Given the description of an element on the screen output the (x, y) to click on. 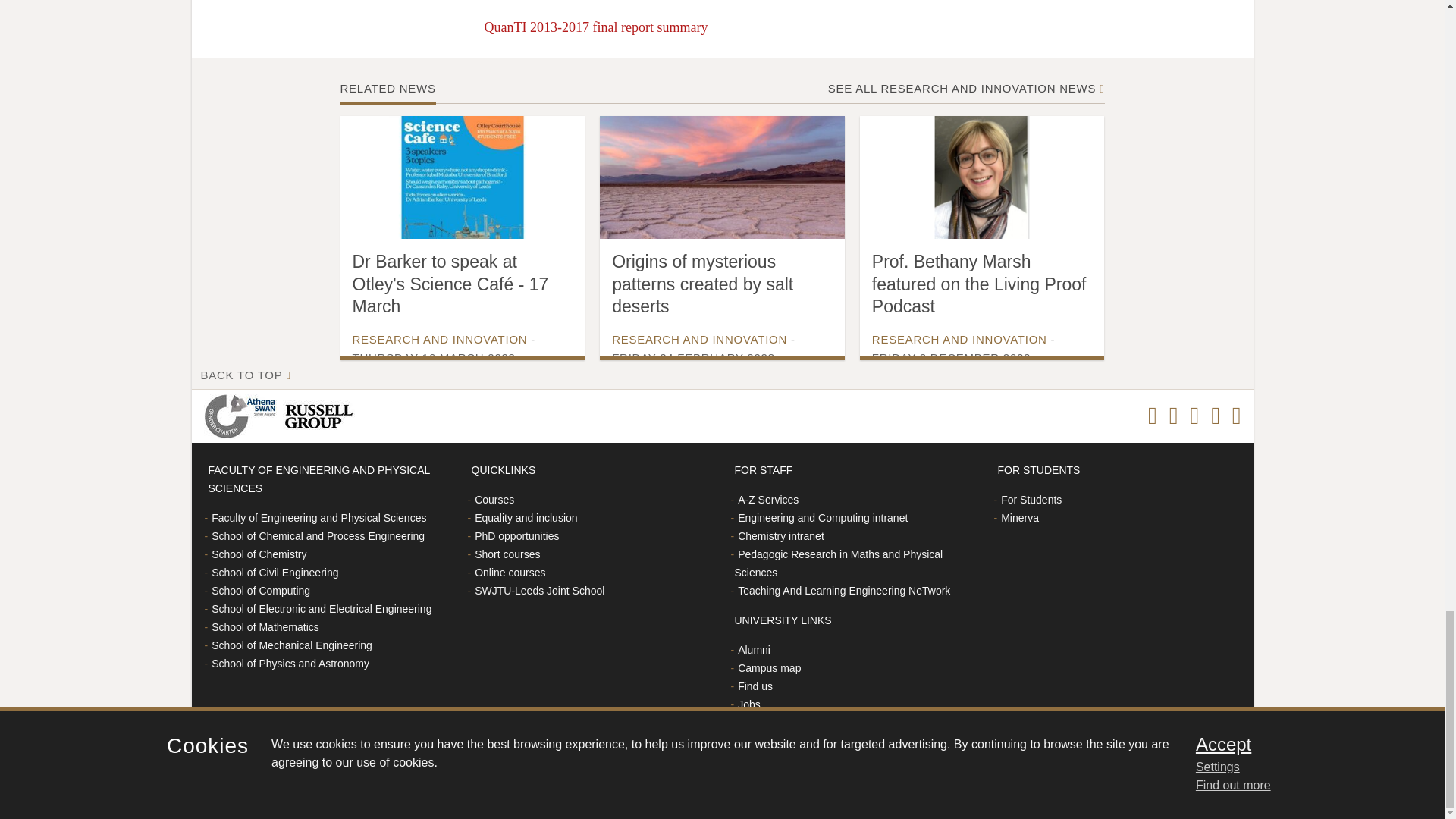
Go to Weibo page (1215, 416)
Go to Twitter page (1193, 416)
Go to YouTube page (1236, 416)
Visit Russell Group (320, 415)
Go to Instagram page (1173, 416)
Go to Facebook page (1152, 416)
Visit Athena SWAN Silver award (242, 415)
